Given the description of an element on the screen output the (x, y) to click on. 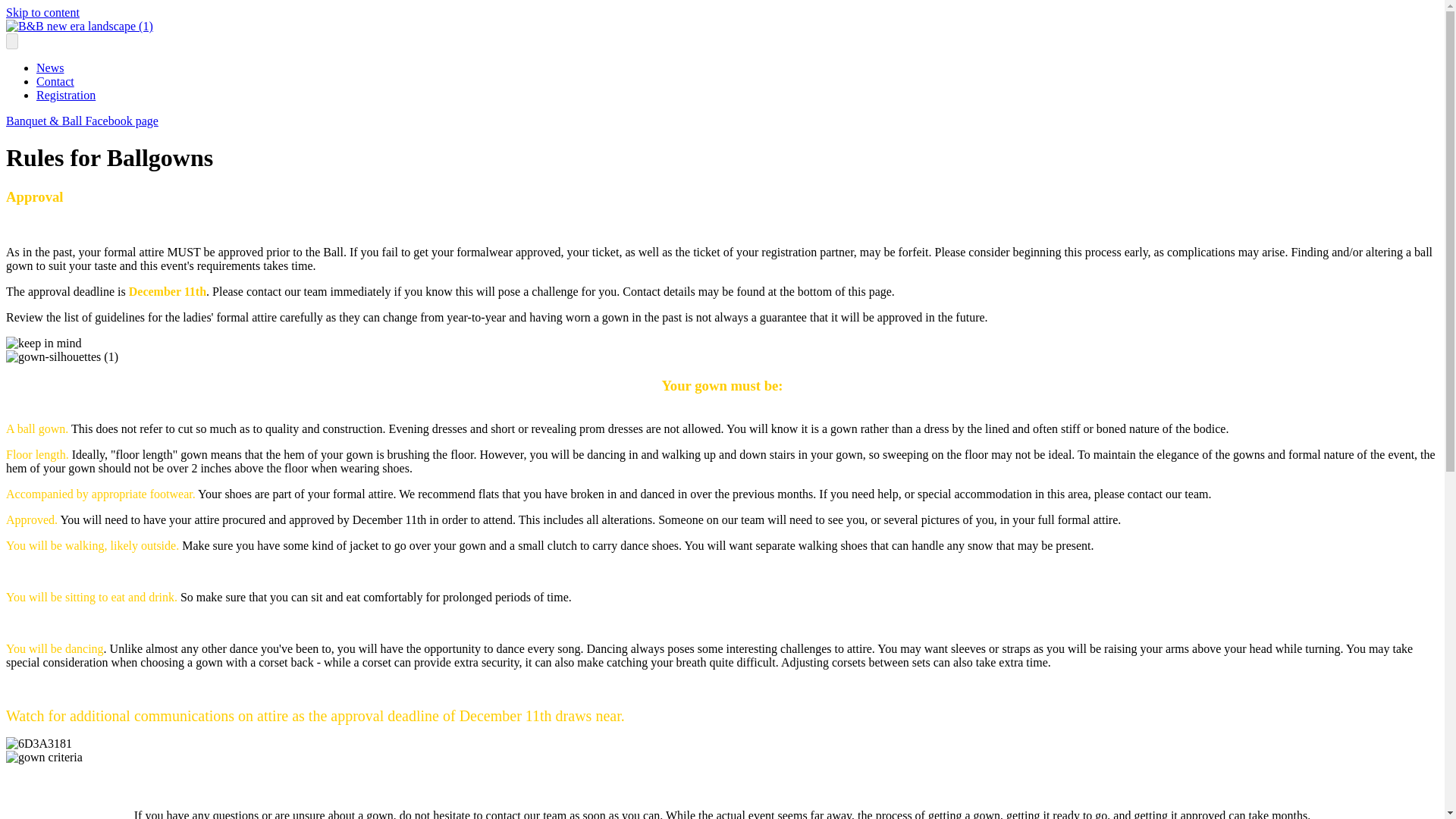
Registration (66, 94)
Skip to content (42, 11)
6D3A3181 (38, 744)
Contact (55, 81)
keep in mind (43, 343)
gown criteria (43, 757)
News (50, 67)
